Given the description of an element on the screen output the (x, y) to click on. 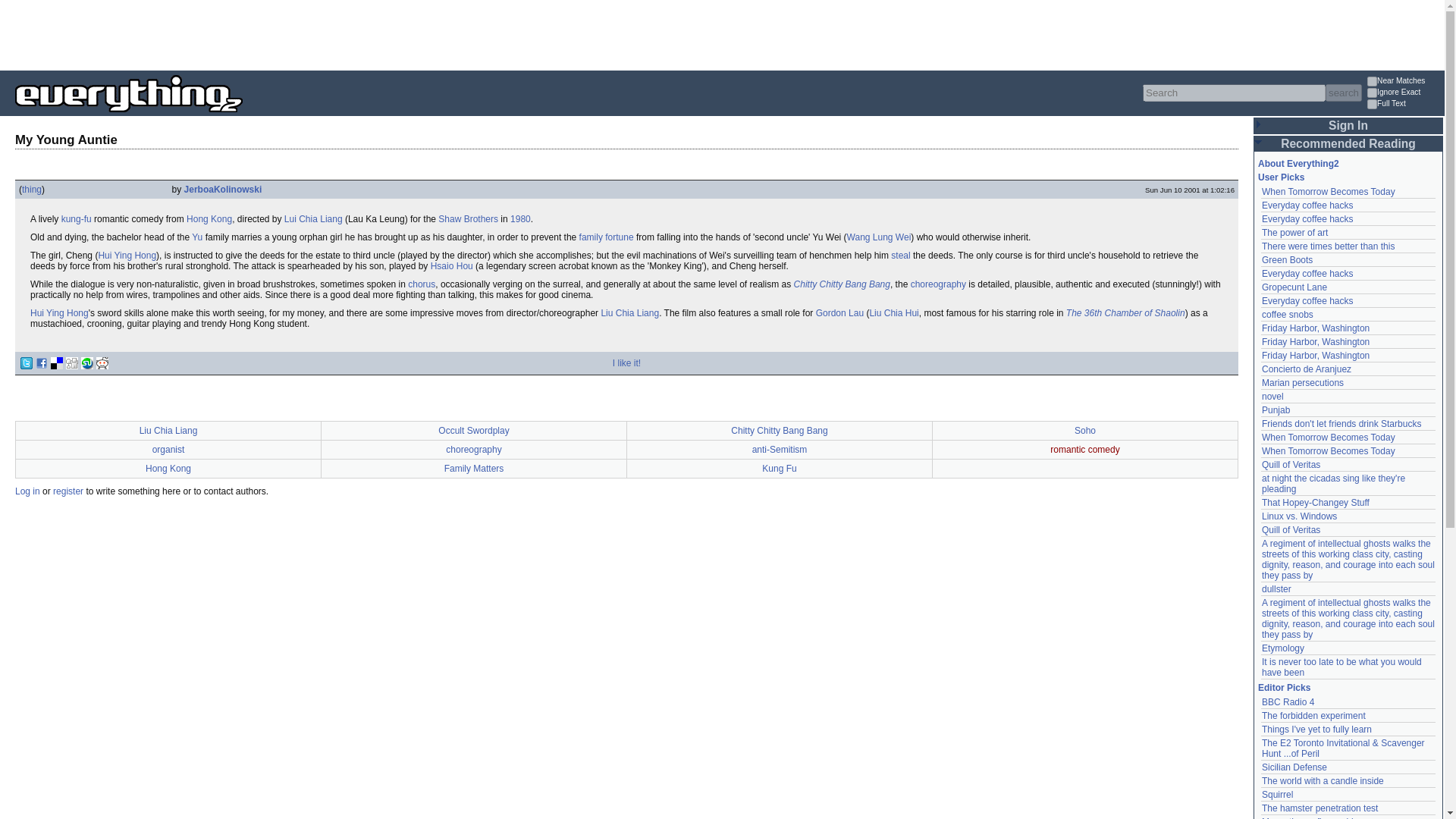
Hong Kong (208, 218)
Liu Chia Liang (629, 312)
1980 (521, 218)
Advertisement (275, 33)
thing (31, 189)
family fortune (606, 236)
Shaw Brothers (467, 218)
I like it! (626, 362)
Hsaio Hou (451, 266)
choreography (472, 449)
choreography (938, 284)
chorus (421, 284)
steal (900, 255)
Chitty Chitty Bang Bang (841, 284)
Liu Chia Liang (168, 430)
